Given the description of an element on the screen output the (x, y) to click on. 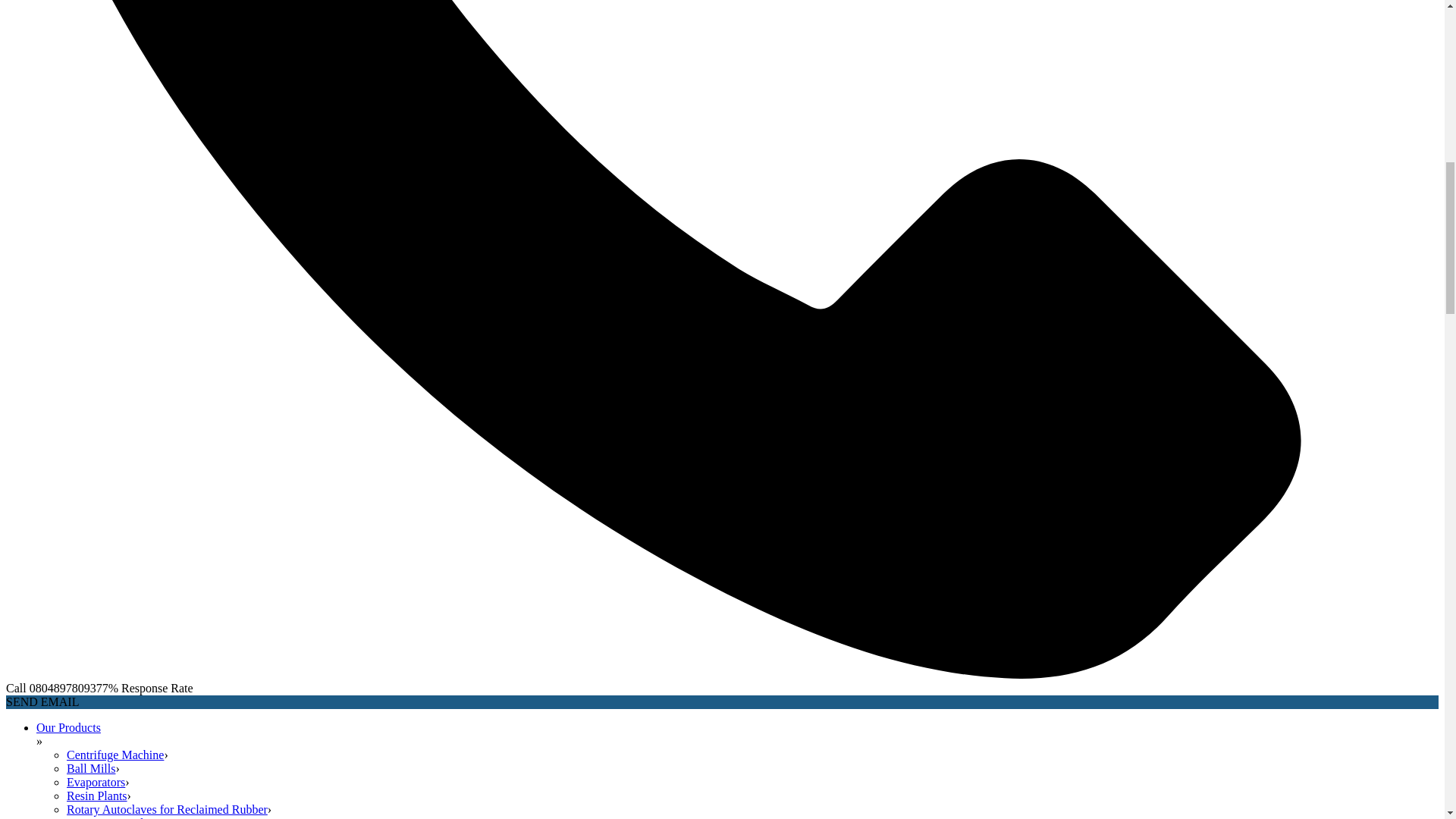
Resin Plants (97, 795)
Rotary Autoclaves for Reclaimed Rubber (166, 809)
Centrifuge Machine (114, 754)
Reaction Vessels (107, 817)
Evaporators (95, 781)
Ball Mills (90, 768)
Our Products (68, 727)
